Given the description of an element on the screen output the (x, y) to click on. 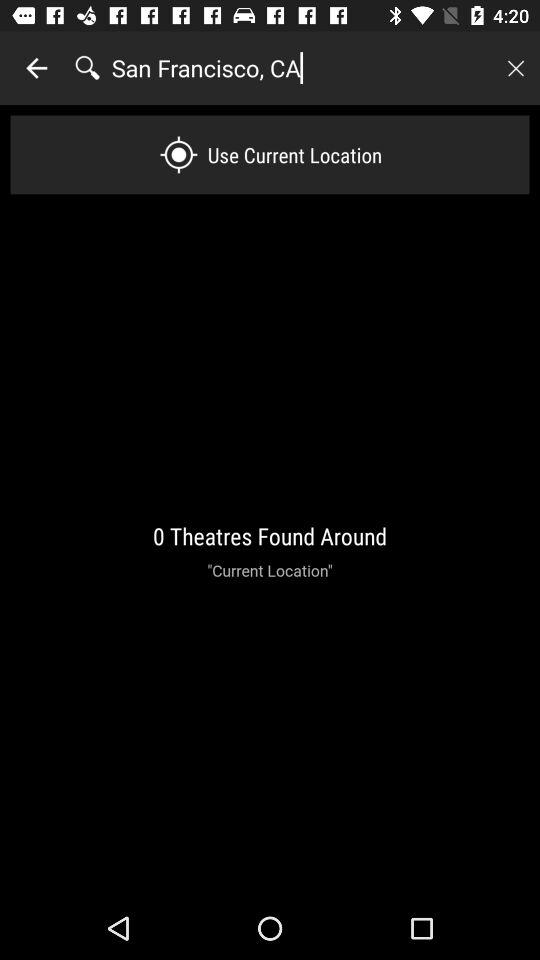
close window (515, 68)
